Given the description of an element on the screen output the (x, y) to click on. 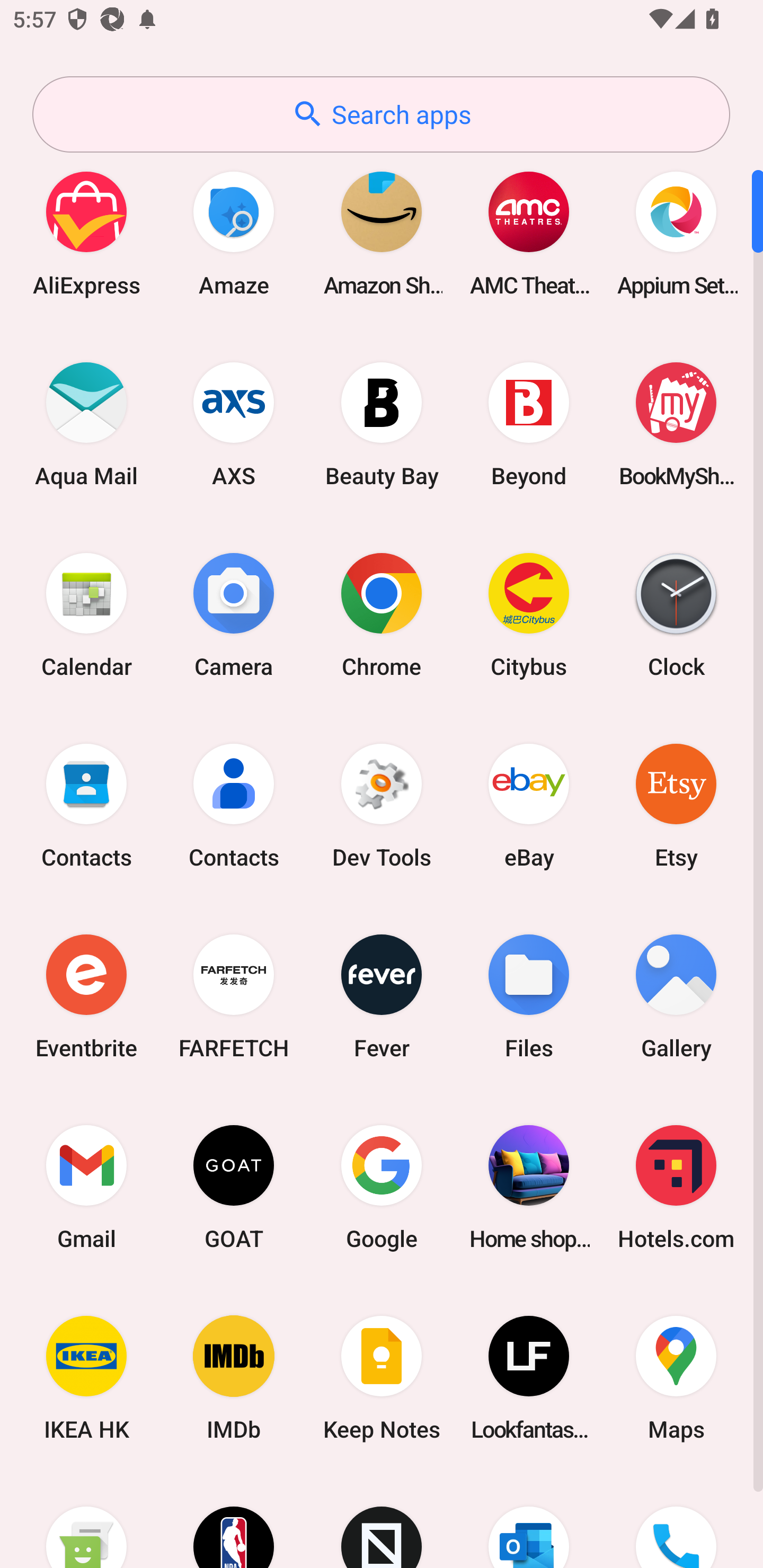
  Search apps (381, 114)
AliExpress (86, 233)
Amaze (233, 233)
Amazon Shopping (381, 233)
AMC Theatres (528, 233)
Appium Settings (676, 233)
Aqua Mail (86, 424)
AXS (233, 424)
Beauty Bay (381, 424)
Beyond (528, 424)
BookMyShow (676, 424)
Calendar (86, 614)
Camera (233, 614)
Chrome (381, 614)
Citybus (528, 614)
Clock (676, 614)
Contacts (86, 805)
Contacts (233, 805)
Dev Tools (381, 805)
eBay (528, 805)
Etsy (676, 805)
Eventbrite (86, 996)
FARFETCH (233, 996)
Fever (381, 996)
Files (528, 996)
Gallery (676, 996)
Gmail (86, 1186)
GOAT (233, 1186)
Google (381, 1186)
Home shopping (528, 1186)
Hotels.com (676, 1186)
IKEA HK (86, 1377)
IMDb (233, 1377)
Keep Notes (381, 1377)
Lookfantastic (528, 1377)
Maps (676, 1377)
